Given the description of an element on the screen output the (x, y) to click on. 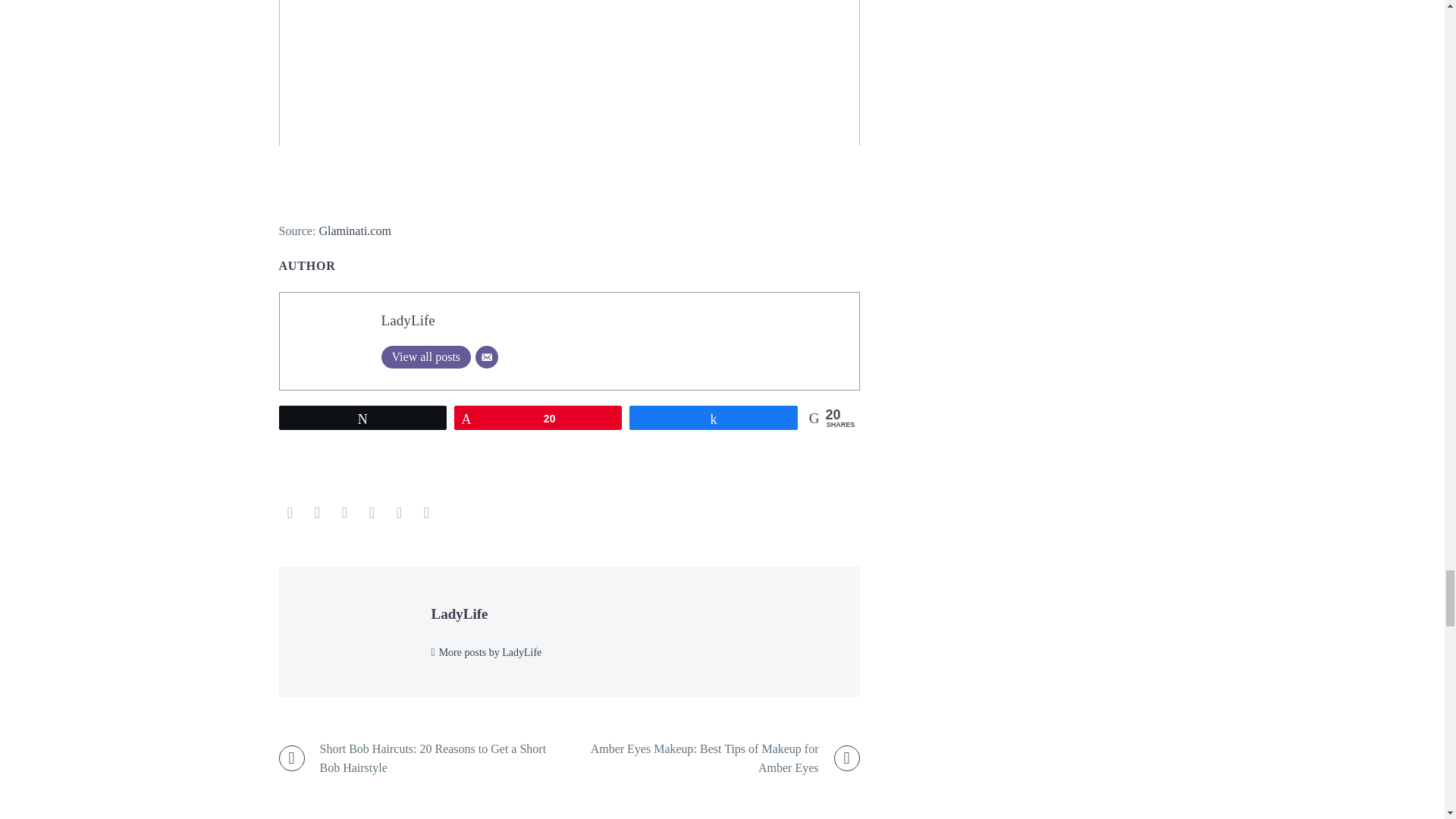
Telegram (426, 512)
LadyLife (406, 320)
LinkedIn (398, 512)
Facebook (289, 512)
Tumblr (371, 512)
View all posts (425, 356)
Pinterest (344, 512)
Twitter (316, 512)
